Given the description of an element on the screen output the (x, y) to click on. 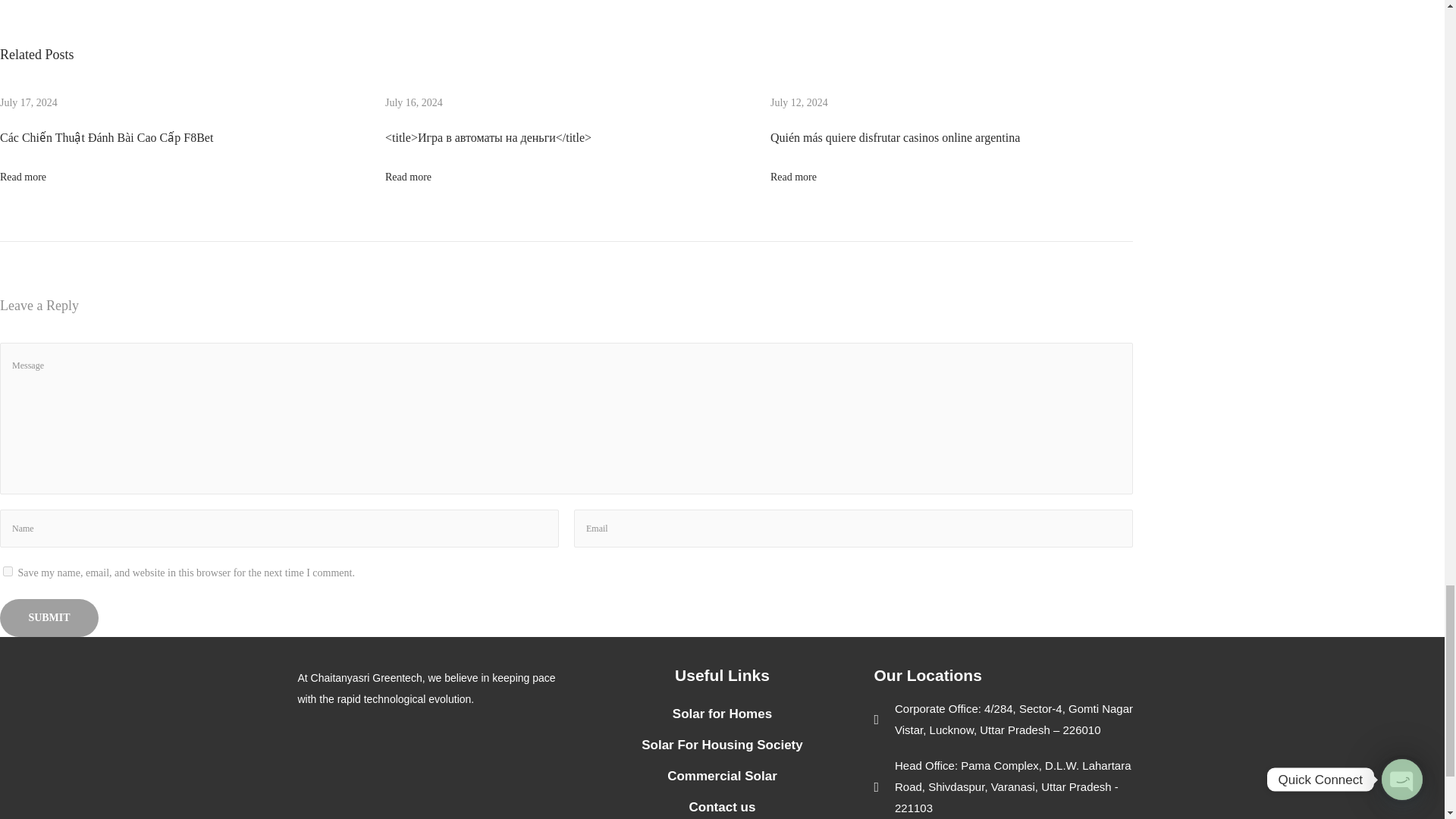
Read more (793, 176)
Submit (49, 617)
yes (7, 571)
Submit (49, 617)
Read more (23, 176)
Read more (407, 176)
